Given the description of an element on the screen output the (x, y) to click on. 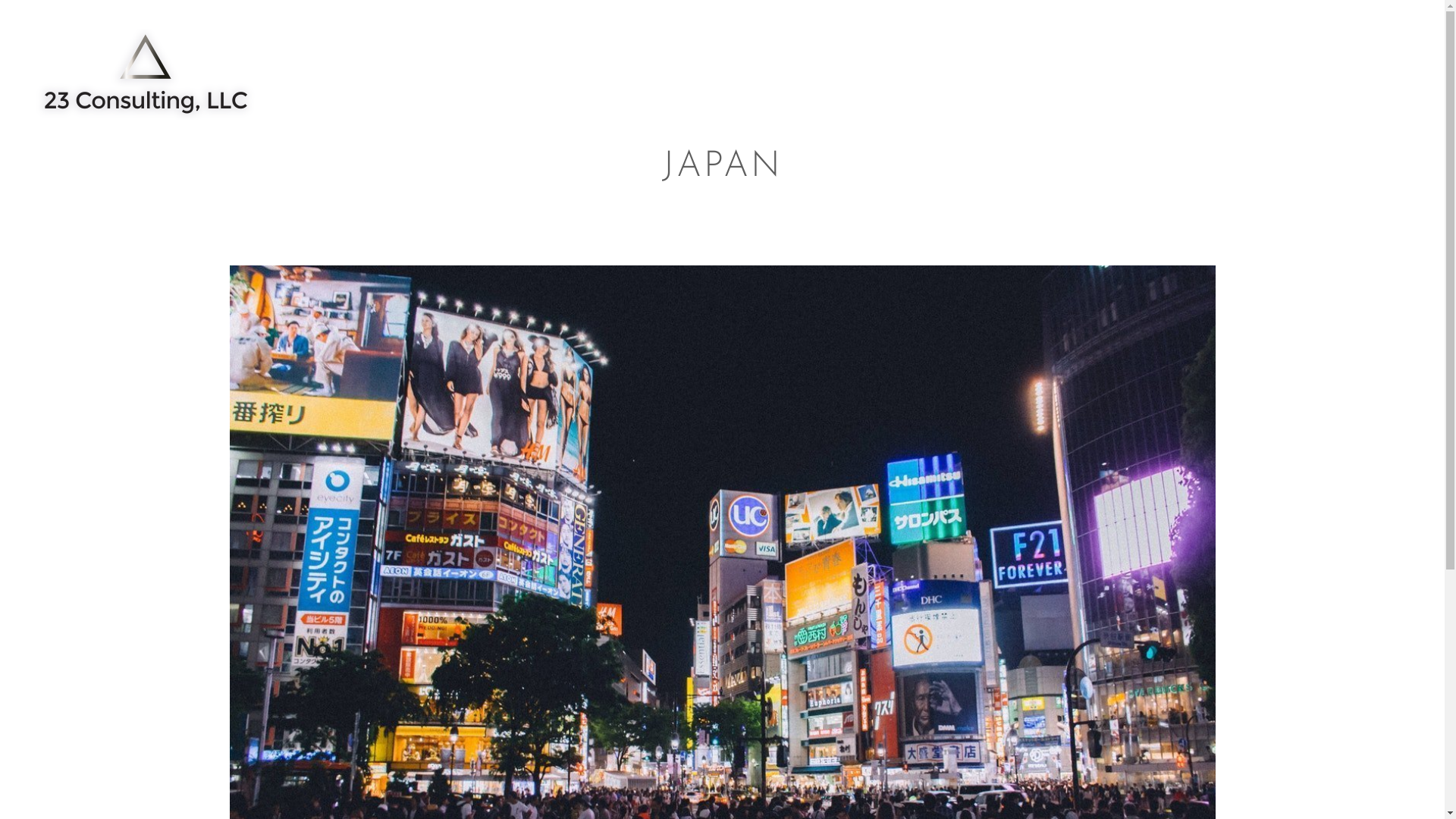
HOME Element type: text (829, 66)
BIOS Element type: text (899, 66)
CONTACT Element type: text (1357, 66)
CLIENTS Element type: text (1256, 66)
INTERNATIONAL Element type: text (1126, 66)
DOMESTIC Element type: text (989, 66)
